Given the description of an element on the screen output the (x, y) to click on. 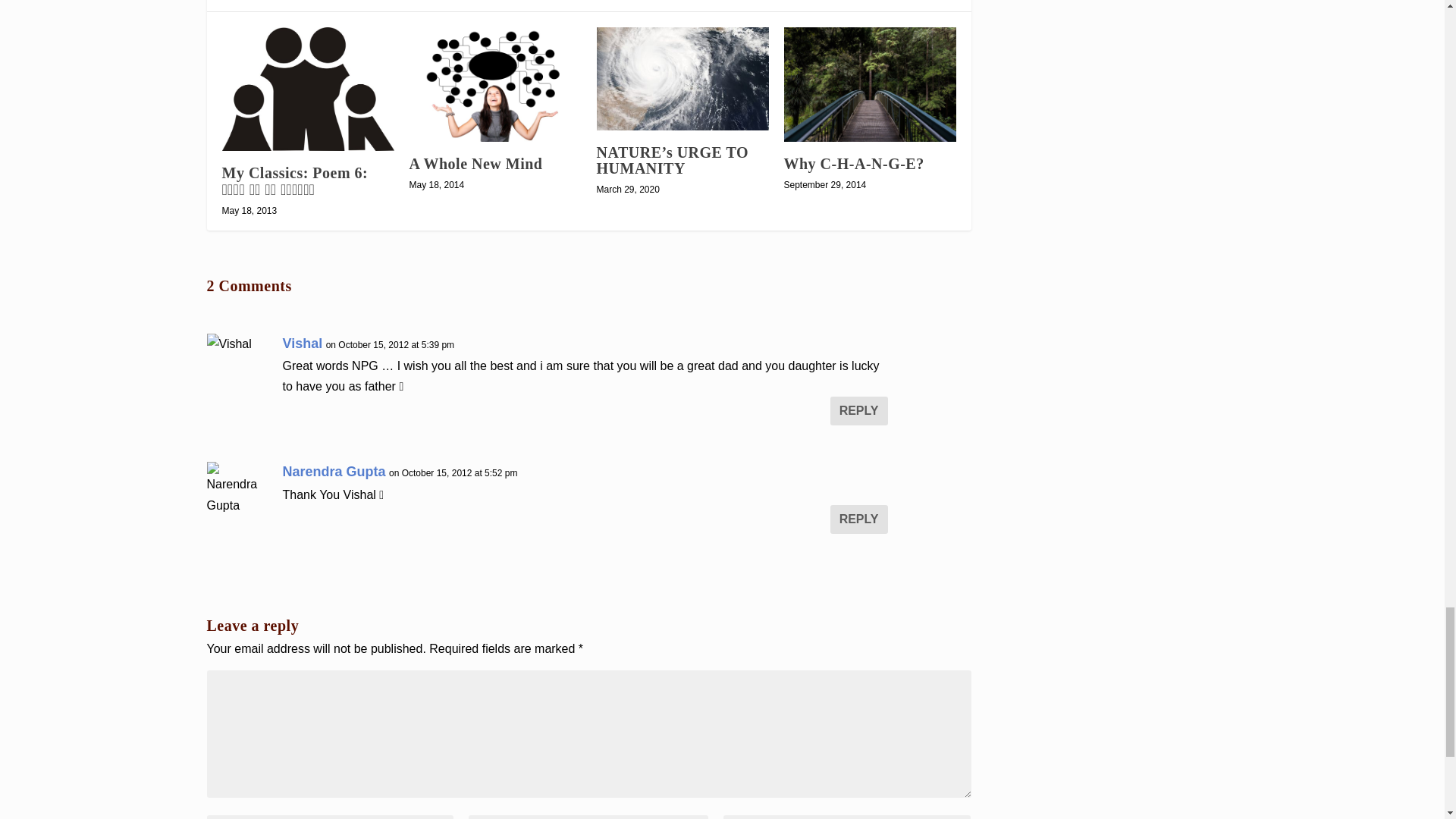
REPLY (858, 410)
A Whole New Mind (494, 84)
Vishal (301, 343)
Why C-H-A-N-G-E? (870, 84)
A Whole New Mind (476, 163)
Why C-H-A-N-G-E? (854, 163)
